Given the description of an element on the screen output the (x, y) to click on. 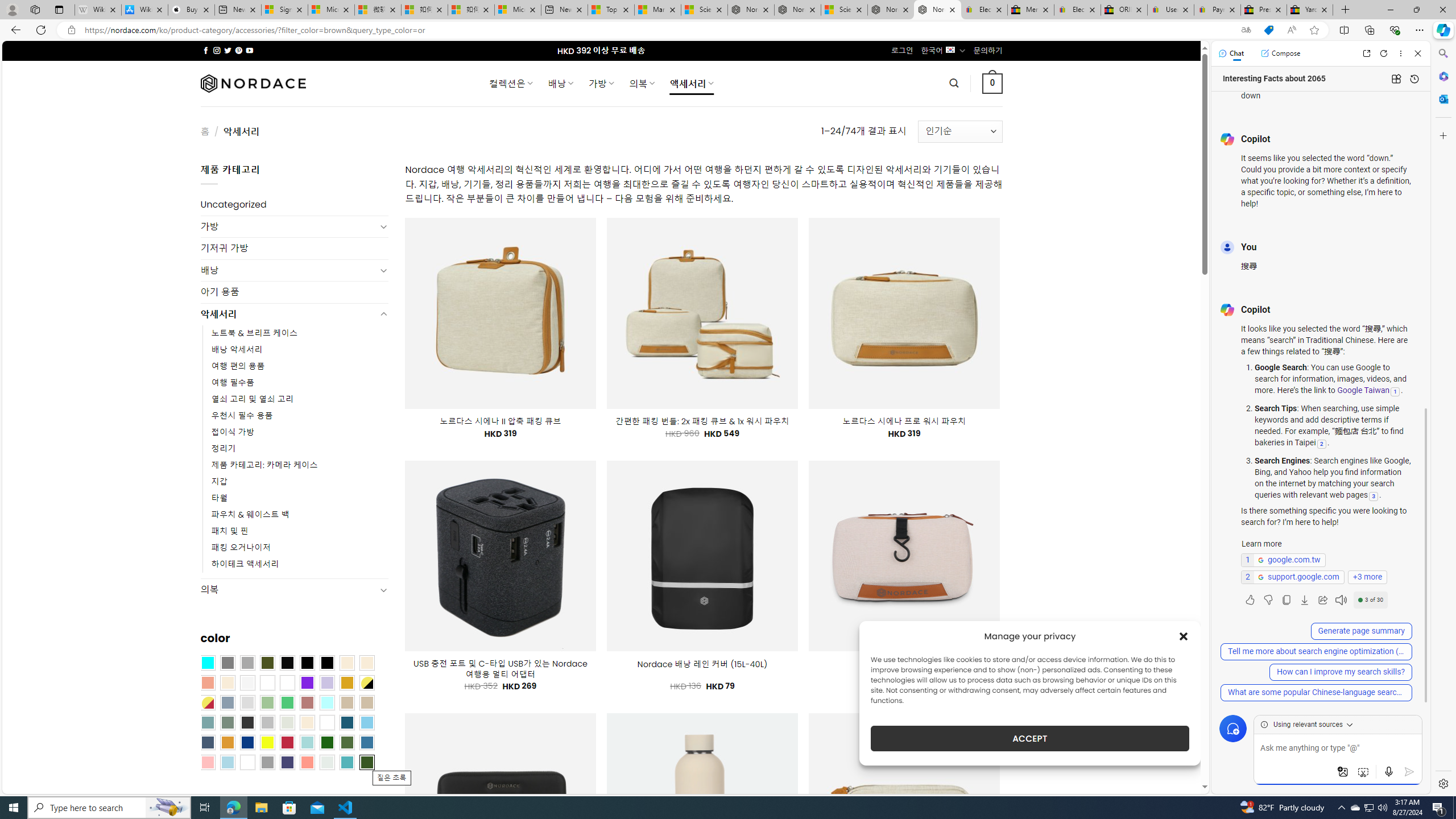
Follow on Twitter (227, 50)
